Given the description of an element on the screen output the (x, y) to click on. 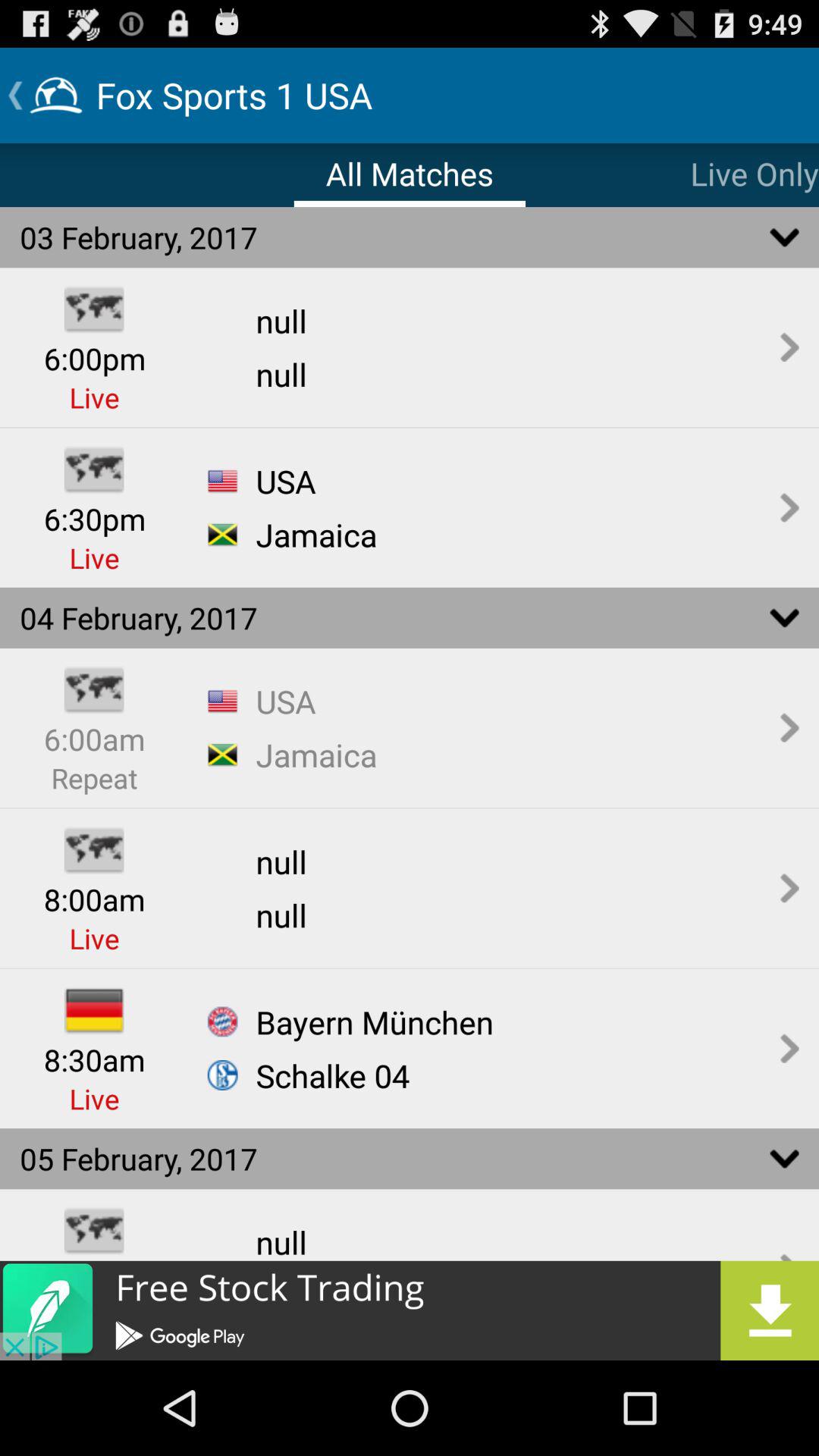
add option (409, 1310)
